Given the description of an element on the screen output the (x, y) to click on. 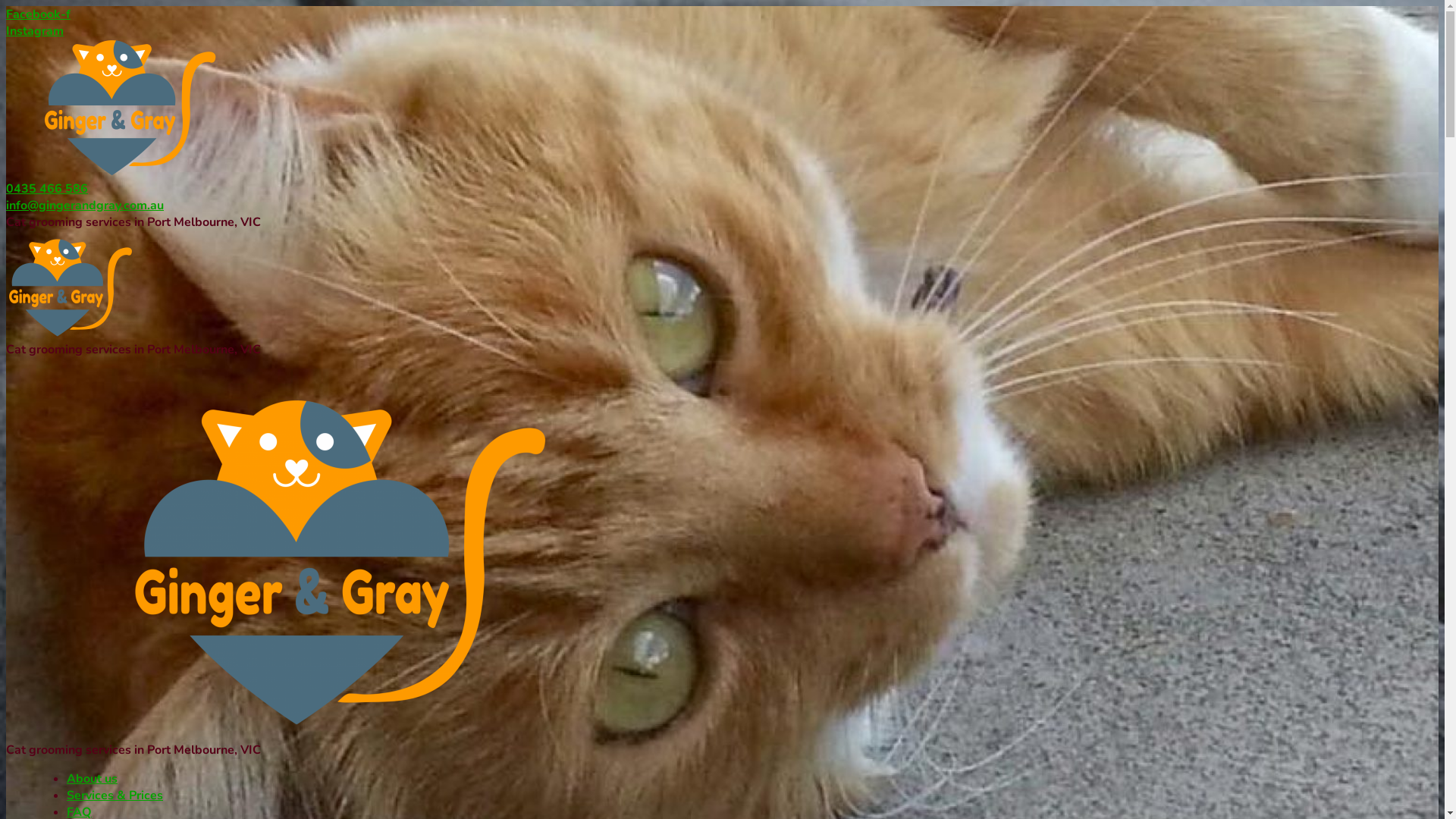
cropped-PNG1-e1516005421320.png Element type: hover (112, 107)
About us Element type: text (91, 778)
Services & Prices Element type: text (114, 795)
cropped-PNG1-e1520509550218.png Element type: hover (70, 287)
0435 466 586 Element type: text (46, 188)
info@gingerandgray.com.au Element type: text (84, 205)
Instagram Element type: text (34, 30)
Facebook-f Element type: text (38, 14)
Skip to content Element type: text (5, 5)
